Given the description of an element on the screen output the (x, y) to click on. 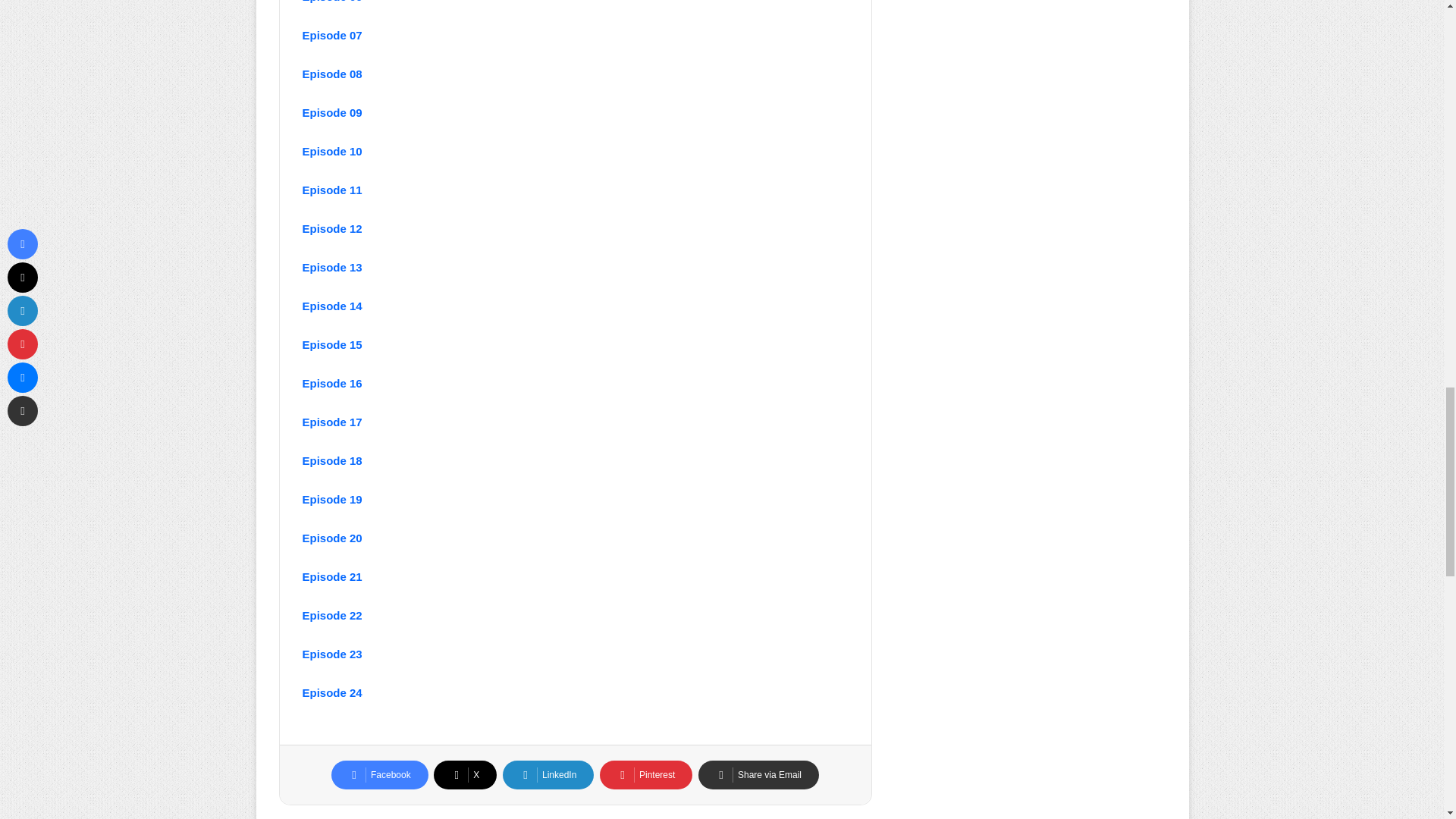
Episode 11 (331, 189)
Pinterest (646, 774)
Episode 13 (331, 267)
Share via Email (758, 774)
Facebook (379, 774)
X (464, 774)
Episode 12 (331, 228)
Episode 06 (331, 1)
Episode 08 (331, 73)
Episode 14 (331, 305)
